Given the description of an element on the screen output the (x, y) to click on. 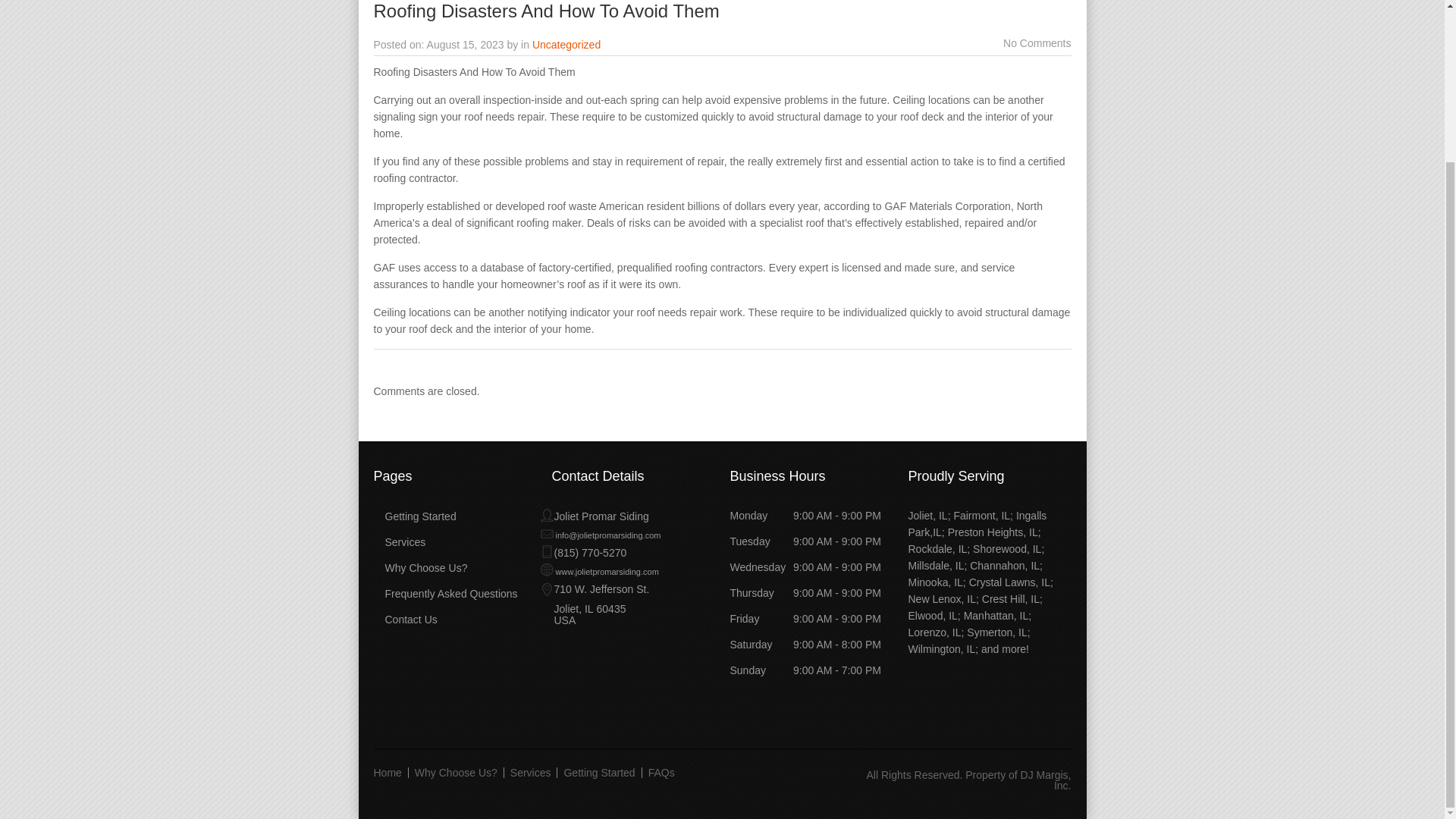
Why Choose Us? (419, 567)
Services (530, 772)
Getting Started (413, 516)
Contact Us (404, 619)
Uncategorized (565, 44)
Home (389, 772)
www.jolietpromarsiding.com (599, 571)
Services (398, 541)
FAQs (661, 772)
Frequently Asked Questions (444, 593)
Getting Started (599, 772)
Why Choose Us? (456, 772)
